Given the description of an element on the screen output the (x, y) to click on. 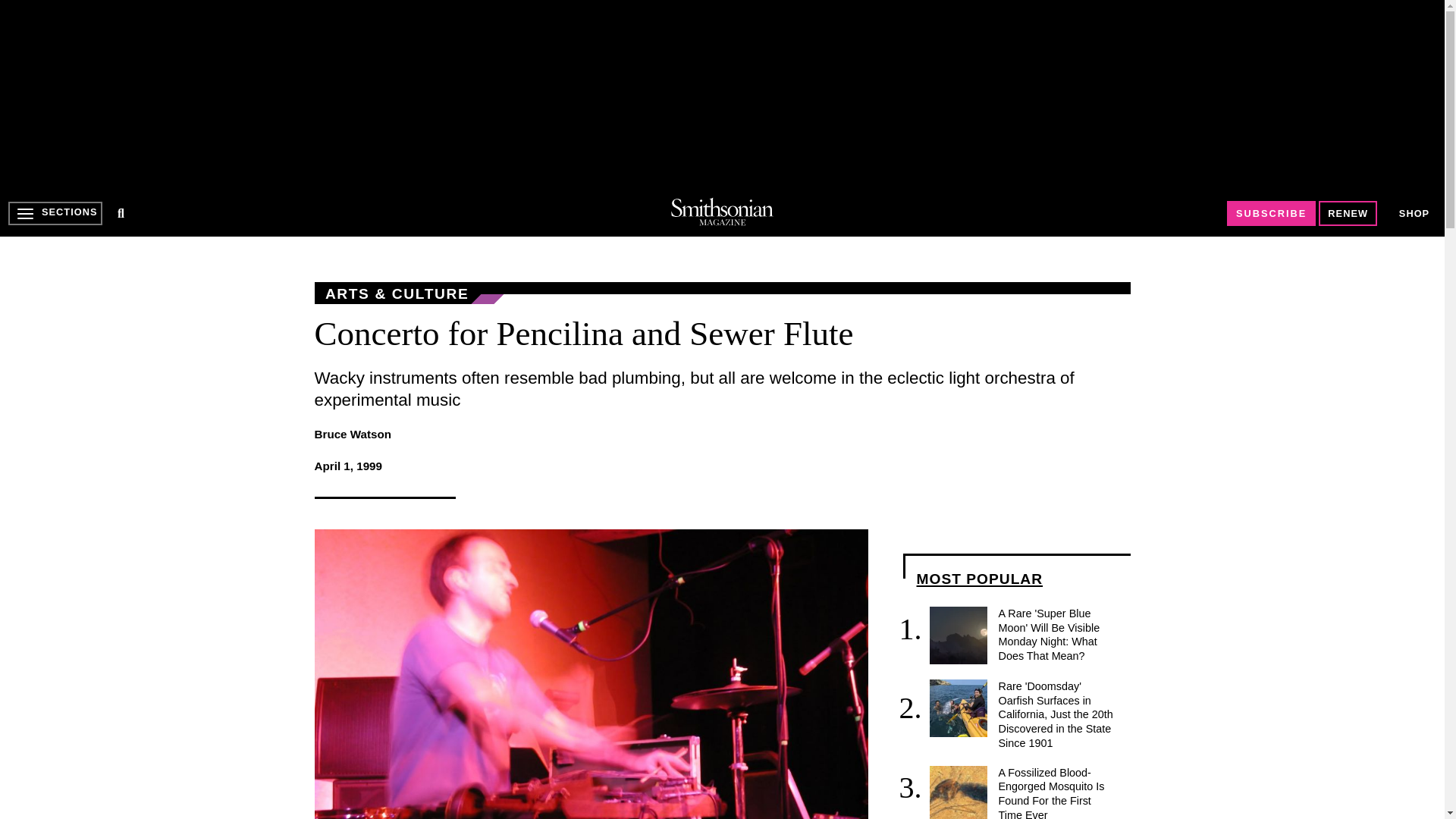
3rd party ad content (721, 94)
SUBSCRIBE (1271, 213)
SHOP (1413, 212)
SECTIONS (55, 213)
RENEW (1347, 212)
SUBSCRIBE (1271, 212)
SHOP (1414, 213)
RENEW (1348, 213)
